Given the description of an element on the screen output the (x, y) to click on. 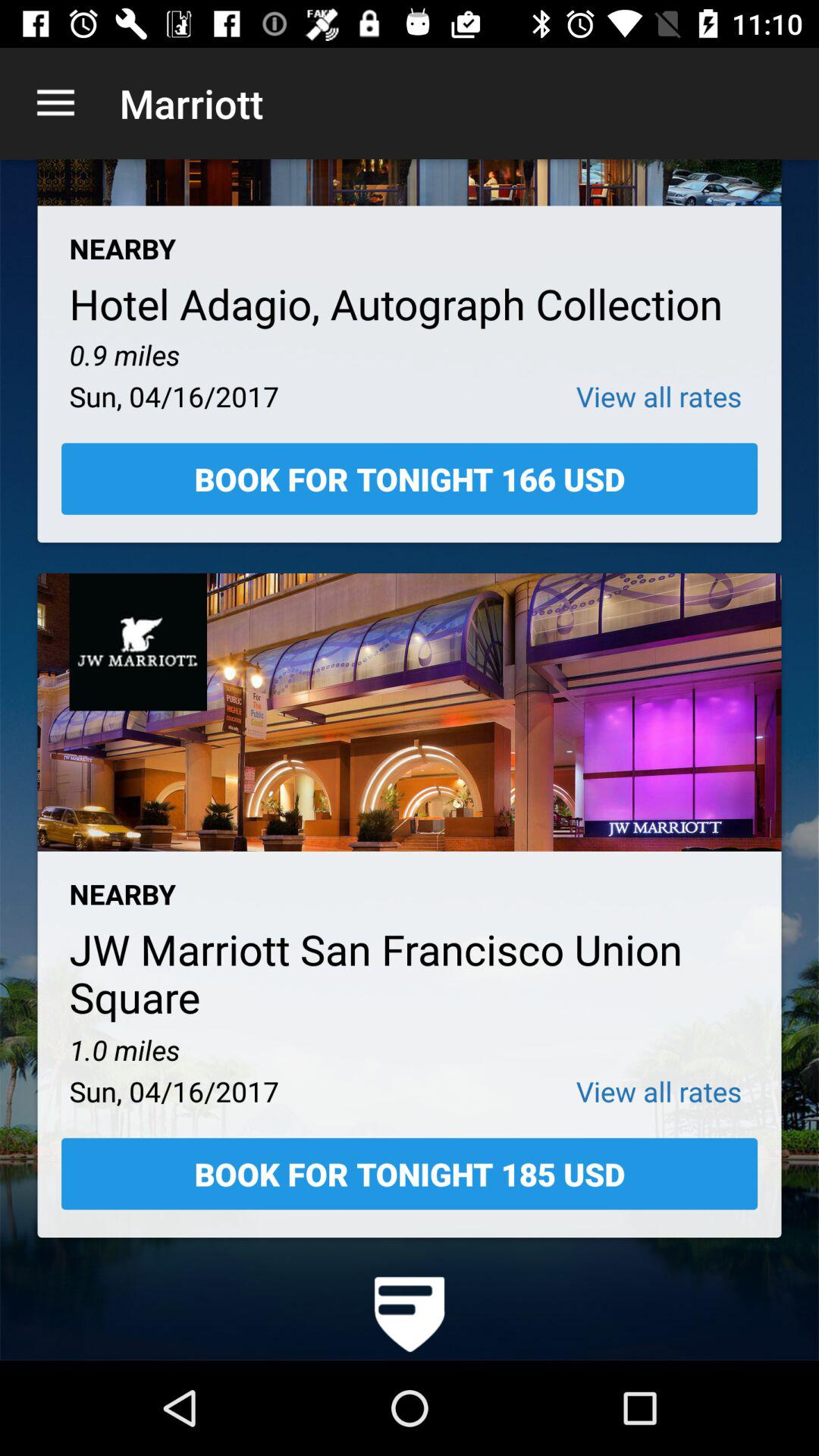
turn off icon next to the marriott app (55, 103)
